Given the description of an element on the screen output the (x, y) to click on. 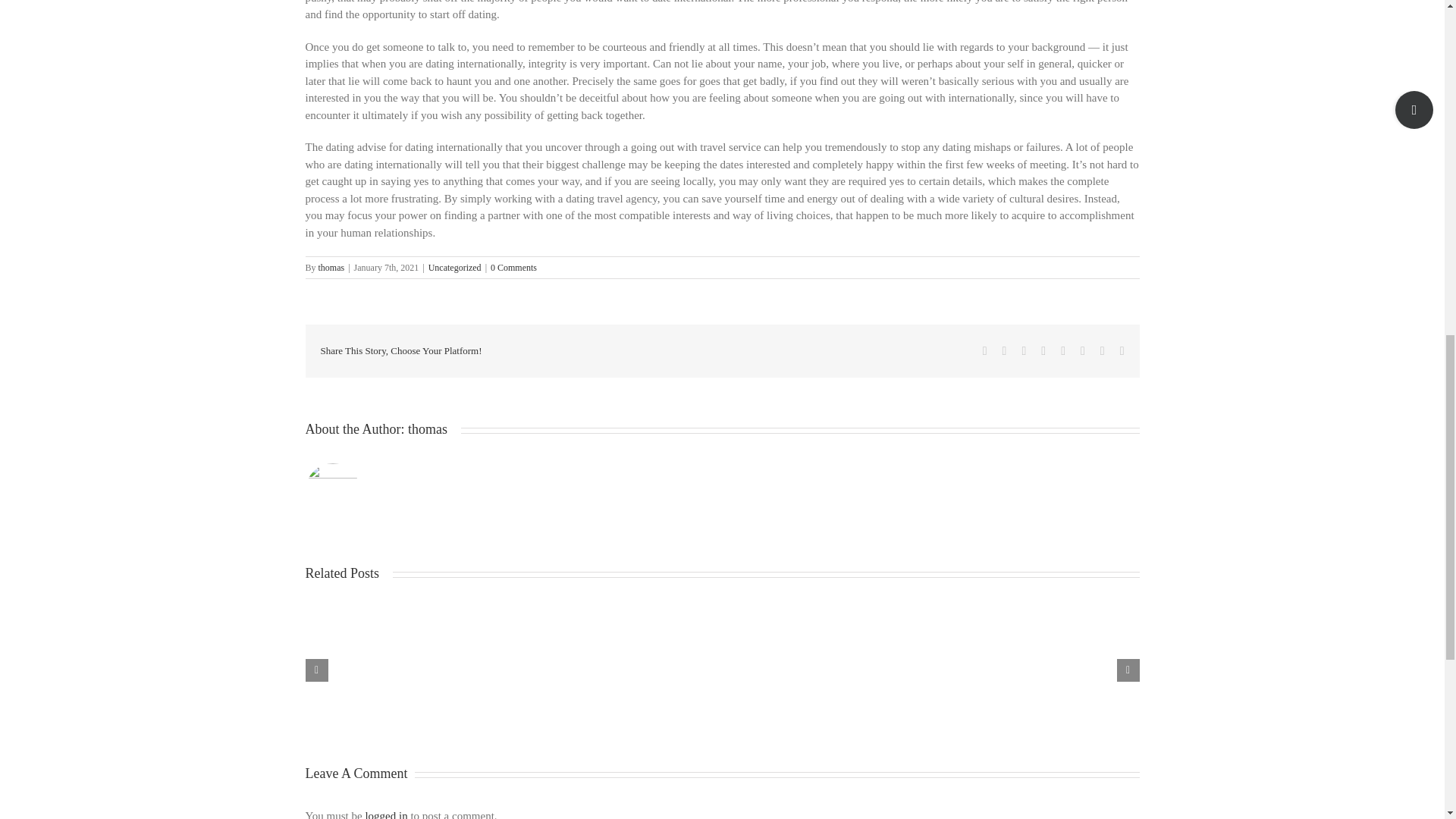
Posts by thomas (331, 267)
Uncategorized (454, 267)
thomas (426, 428)
0 Comments (513, 267)
thomas (331, 267)
Posts by thomas (426, 428)
